Given the description of an element on the screen output the (x, y) to click on. 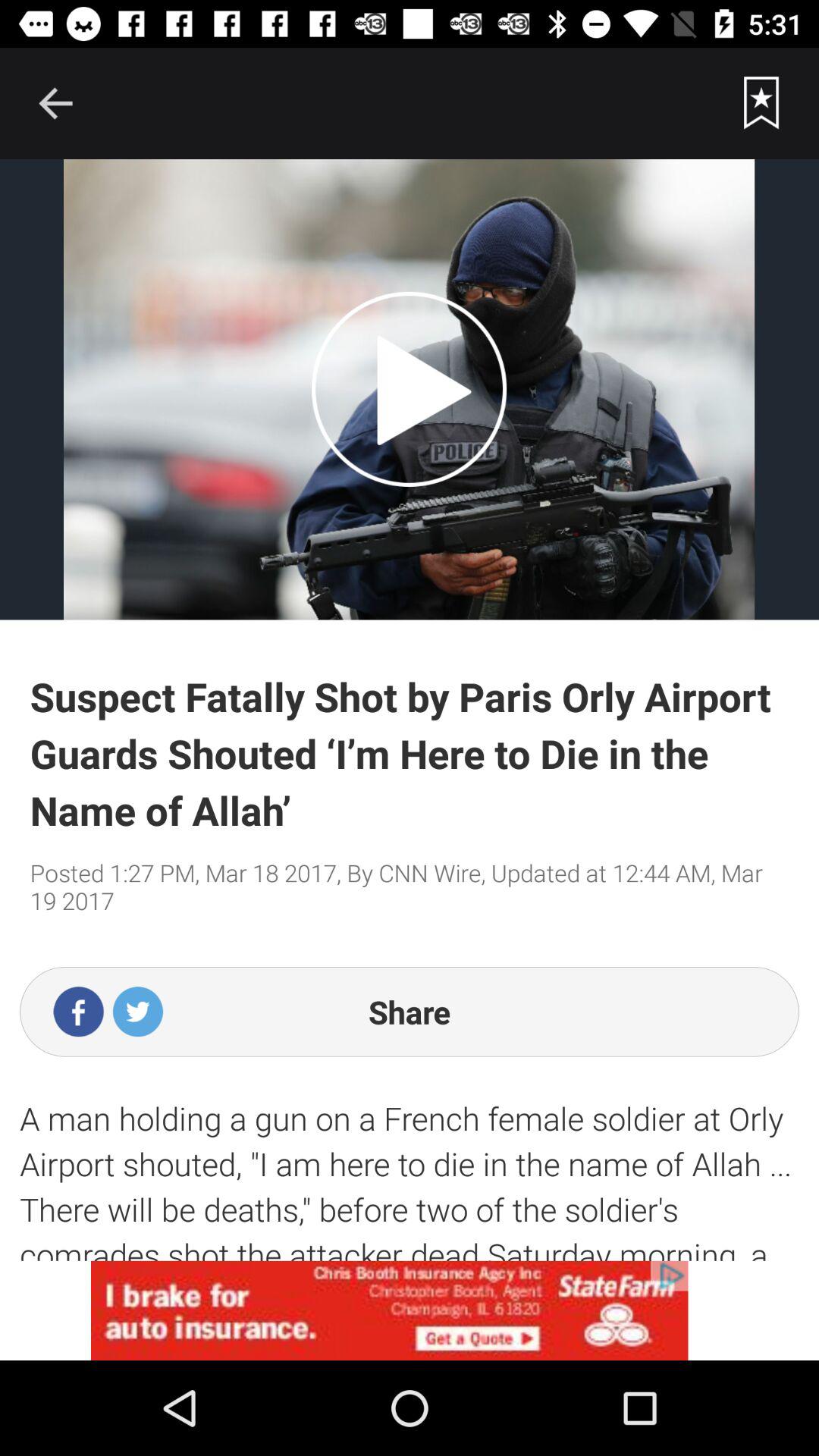
select the advertisement (409, 1310)
